Given the description of an element on the screen output the (x, y) to click on. 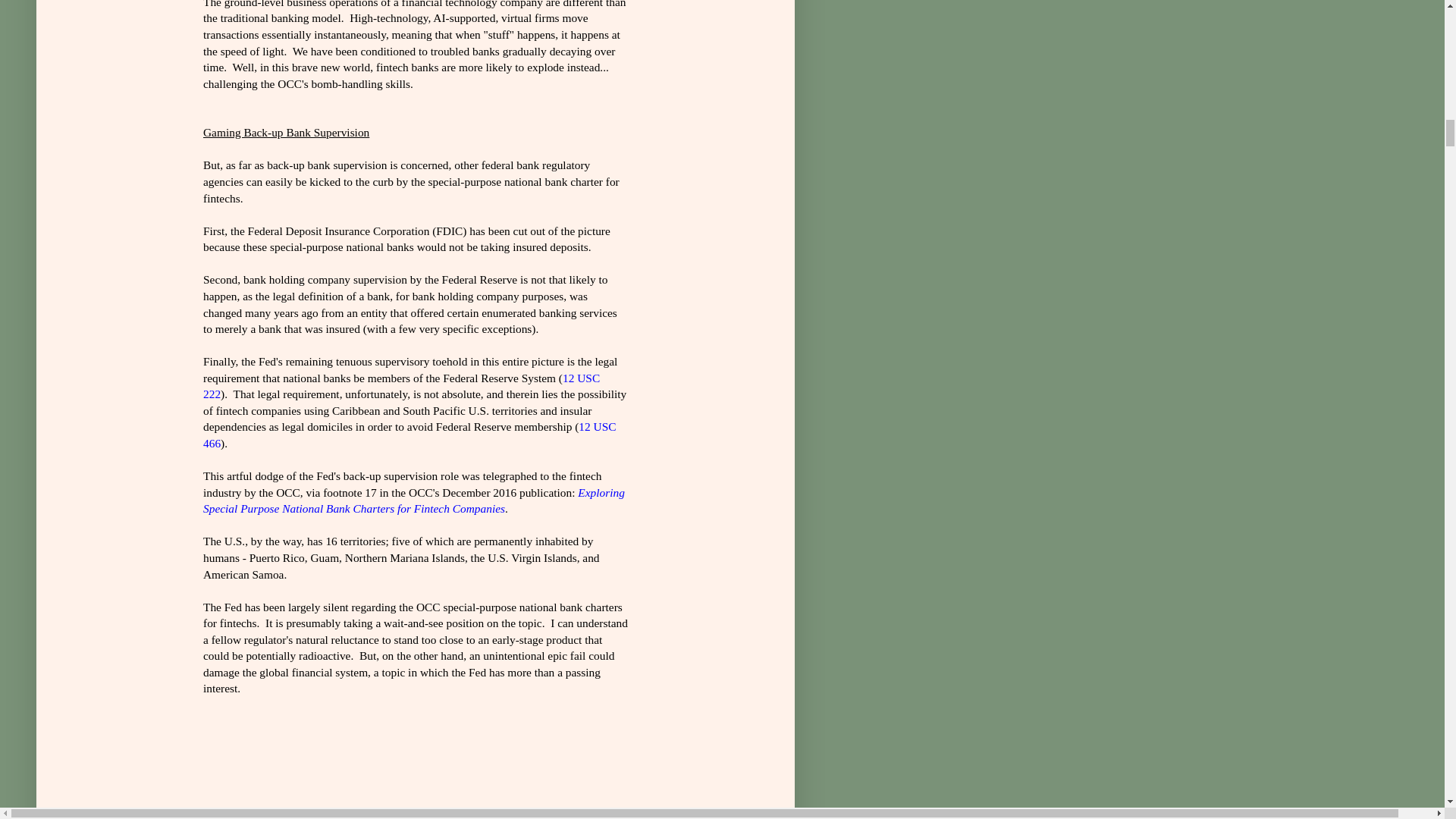
12 USC 222 (401, 386)
12 USC 466 (409, 434)
